Given the description of an element on the screen output the (x, y) to click on. 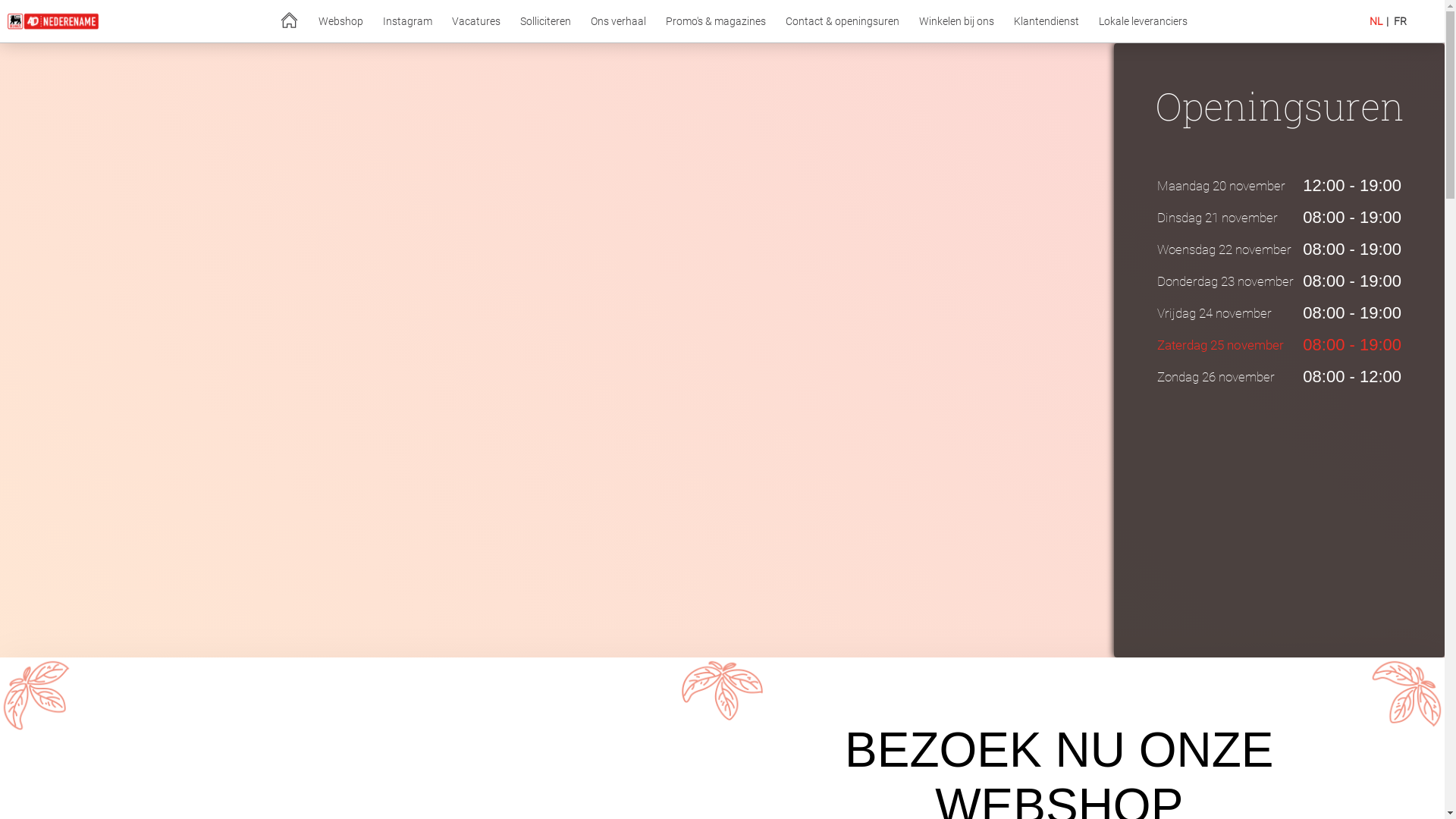
Vacatures Element type: text (476, 21)
Solliciteren Element type: text (545, 21)
Klantendienst Element type: text (1046, 21)
Contact & openingsuren Element type: text (842, 21)
NL Element type: text (1375, 21)
Promo's & magazines Element type: text (715, 21)
Webshop Element type: text (340, 21)
Ons verhaal Element type: text (617, 21)
Instagram Element type: text (407, 21)
FR Element type: text (1399, 21)
Winkelen bij ons Element type: text (956, 21)
Lokale leveranciers Element type: text (1142, 21)
